Given the description of an element on the screen output the (x, y) to click on. 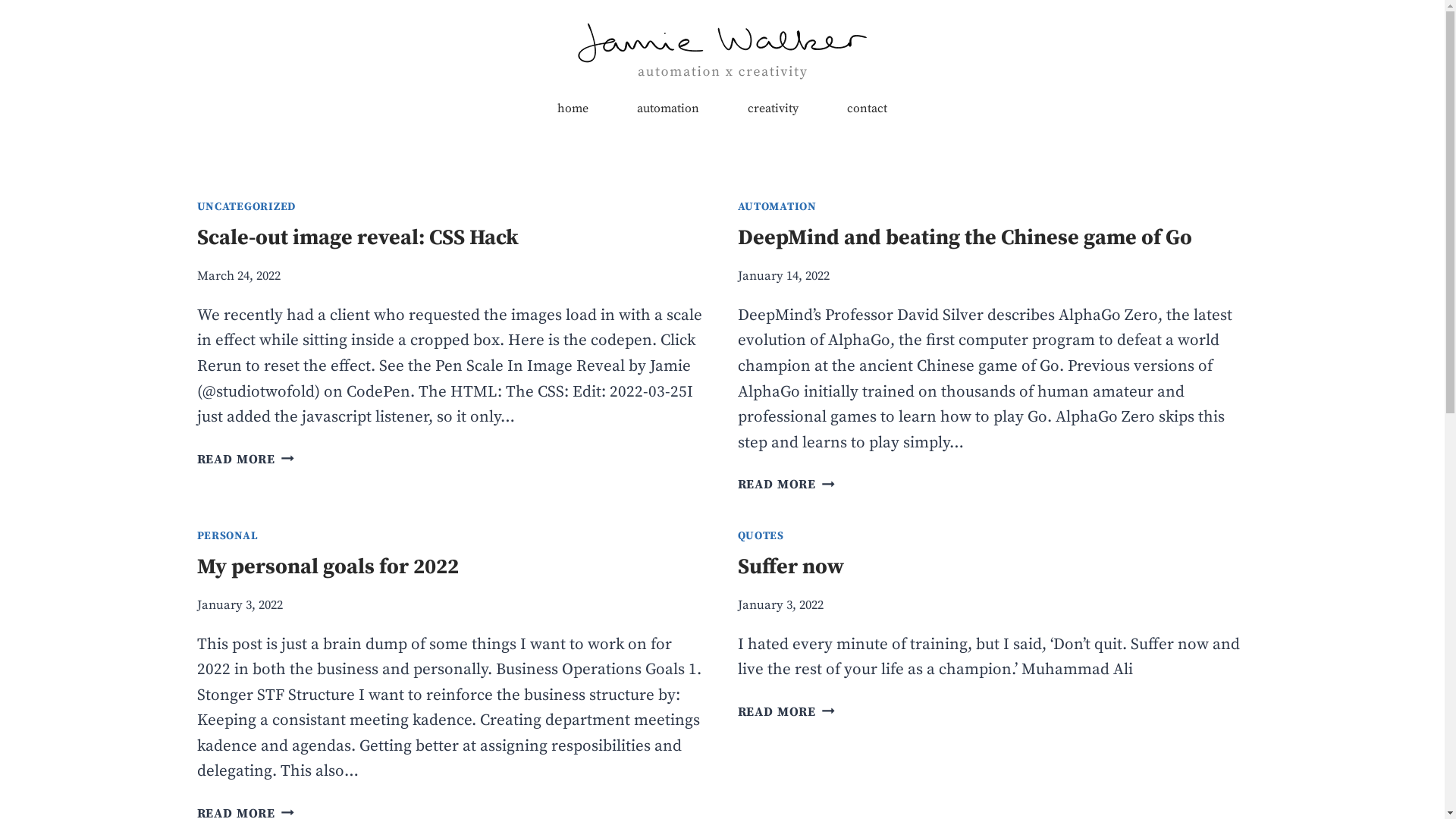
contact Element type: text (866, 109)
creativity Element type: text (772, 109)
READ MORE
DEEPMIND AND BEATING THE CHINESE GAME OF GO Element type: text (785, 484)
READ MORE
SUFFER NOW Element type: text (785, 712)
Scale-out image reveal: CSS Hack Element type: text (357, 237)
QUOTES Element type: text (760, 535)
PERSONAL Element type: text (227, 535)
DeepMind and beating the Chinese game of Go Element type: text (964, 237)
READ MORE
SCALE-OUT IMAGE REVEAL: CSS HACK Element type: text (245, 459)
Suffer now Element type: text (790, 566)
My personal goals for 2022 Element type: text (327, 566)
UNCATEGORIZED Element type: text (246, 206)
AUTOMATION Element type: text (776, 206)
home Element type: text (572, 109)
automation Element type: text (667, 109)
